Given the description of an element on the screen output the (x, y) to click on. 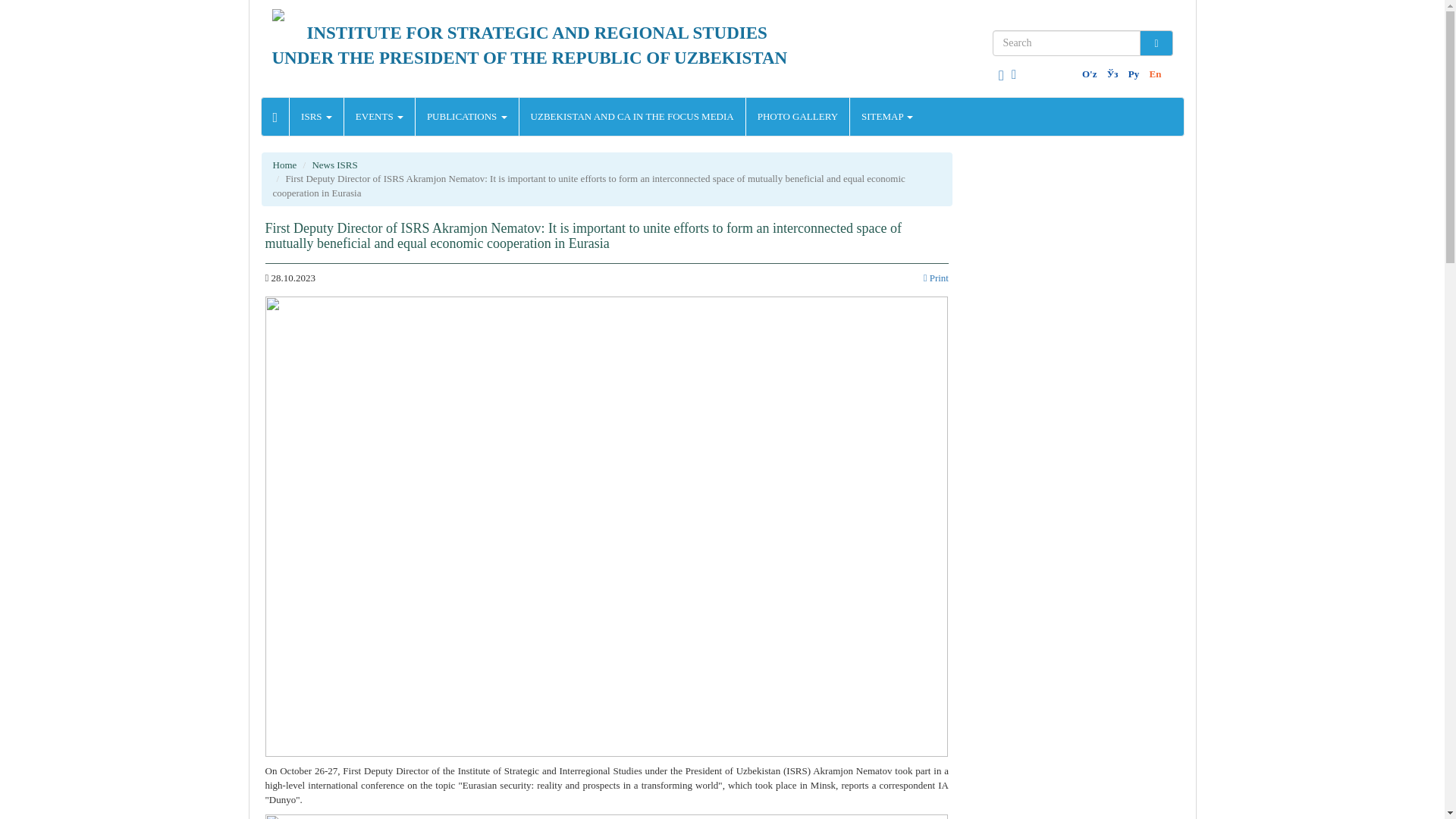
En (1154, 73)
O'z (1089, 73)
ISRS (316, 116)
PUBLICATIONS (466, 116)
EVENTS (378, 116)
Special abilities (1001, 75)
PHOTO GALLERY (796, 116)
Home (285, 164)
Print (936, 277)
SITEMAP (887, 116)
News ISRS (333, 164)
UZBEKISTAN AND CA IN THE FOCUS MEDIA (632, 116)
